Given the description of an element on the screen output the (x, y) to click on. 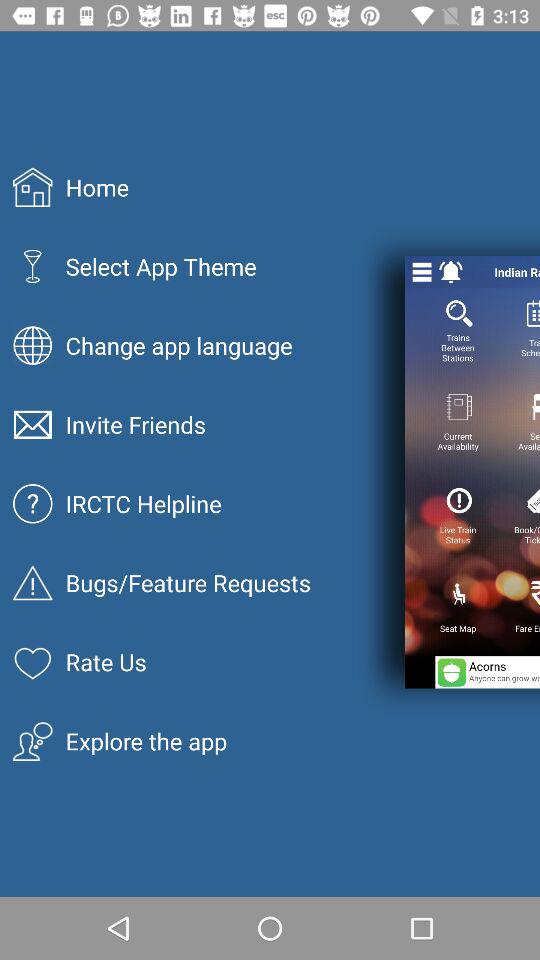
select item next to the indian railways (450, 271)
